Given the description of an element on the screen output the (x, y) to click on. 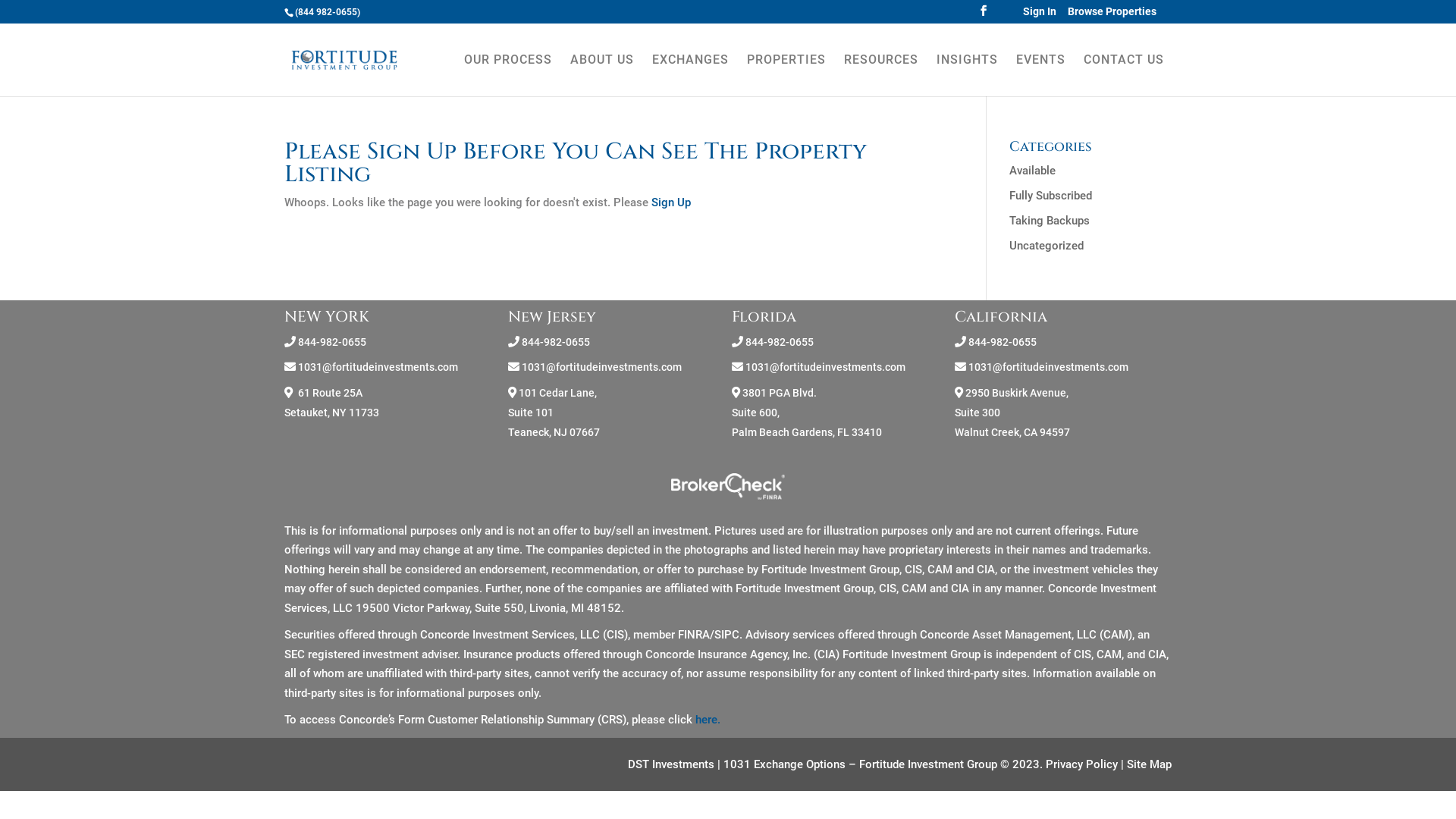
Sign Up Element type: text (670, 202)
Browse Properties Element type: text (1111, 11)
INSIGHTS Element type: text (966, 73)
RESOURCES Element type: text (881, 73)
2950 Buskirk Avenue,
Suite 300
Walnut Creek, CA 94597 Element type: text (1012, 412)
EVENTS Element type: text (1040, 73)
101 Cedar Lane,
Suite 101
Teaneck, NJ 07667 Element type: text (553, 412)
844-982-0655 Element type: text (1002, 341)
EXCHANGES Element type: text (690, 73)
Site Map Element type: text (1148, 764)
here. Element type: text (707, 719)
PROPERTIES Element type: text (785, 73)
SIPC Element type: text (726, 634)
1031@fortitudeinvestments.com Element type: text (1048, 366)
ABOUT US Element type: text (601, 73)
1031@fortitudeinvestments.com Element type: text (601, 366)
FINRA Element type: text (693, 634)
Sign In Element type: text (1039, 11)
Privacy Policy Element type: text (1081, 764)
844-982-0655 Element type: text (779, 341)
3801 PGA Blvd.
Suite 600,
Palm Beach Gardens, FL 33410 Element type: text (806, 412)
Fully Subscribed Element type: text (1050, 195)
1031@fortitudeinvestments.com Element type: text (825, 366)
Available Element type: text (1032, 170)
1031@fortitudeinvestments.com Element type: text (378, 366)
Uncategorized Element type: text (1046, 245)
OUR PROCESS Element type: text (508, 73)
Taking Backups Element type: text (1049, 220)
CONTACT US Element type: text (1123, 73)
844-982-0655 Element type: text (332, 341)
61 Route 25A
Setauket, NY 11733 Element type: text (331, 402)
844-982-0655 Element type: text (555, 341)
